Given the description of an element on the screen output the (x, y) to click on. 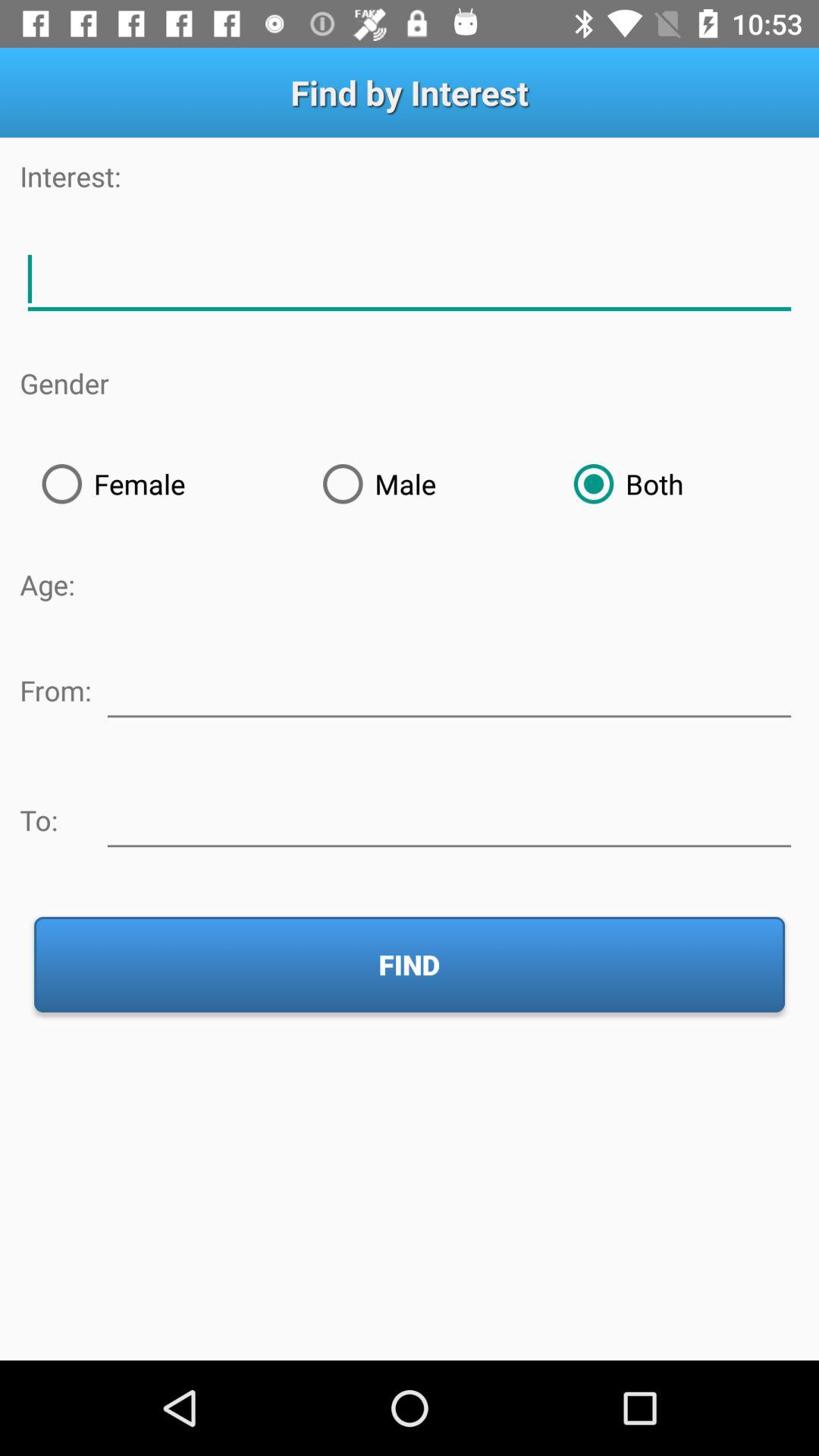
send to (449, 817)
